Given the description of an element on the screen output the (x, y) to click on. 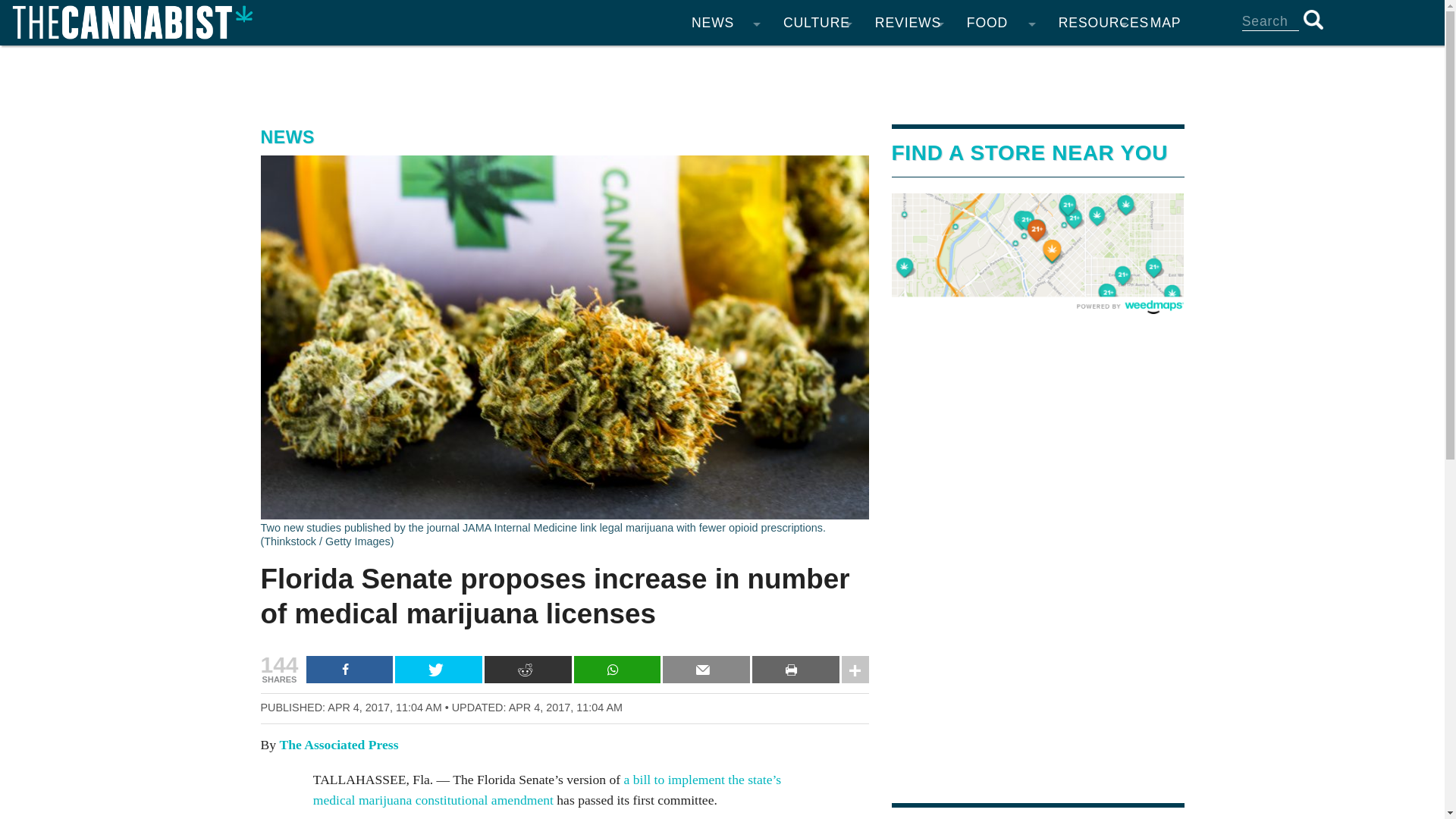
CANNABIS RECIPES (1000, 60)
INTERVIEWS (817, 182)
ENTERTAINMENT (817, 60)
2015 (633, 303)
YEAR IN REVIEW (725, 272)
WORLD CULTURE (817, 272)
US NEWS (725, 121)
WORLD NEWS (725, 151)
BUSINESS (725, 212)
FOOD (1000, 22)
POT AND PARENTING (817, 212)
US CULTURE (817, 242)
CALIFORNIA (725, 91)
SPORTS (817, 121)
GONE HEMP (909, 121)
